Given the description of an element on the screen output the (x, y) to click on. 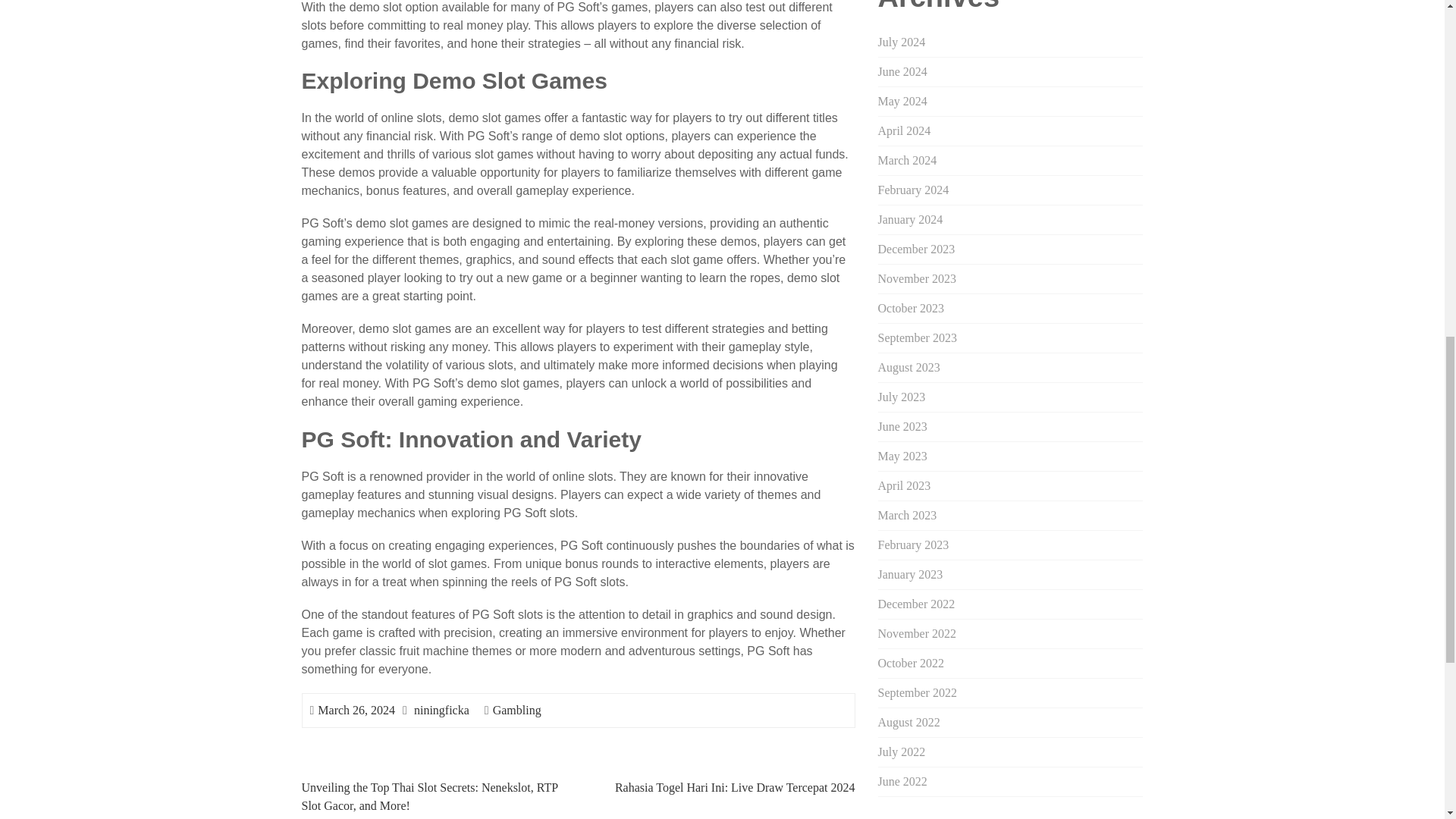
May 2023 (902, 455)
Gambling (517, 709)
July 2024 (901, 42)
March 2024 (907, 160)
November 2022 (916, 633)
April 2024 (904, 130)
March 26, 2024 (355, 709)
June 2023 (902, 426)
December 2022 (916, 603)
October 2022 (910, 662)
September 2023 (916, 337)
Rahasia Togel Hari Ini: Live Draw Tercepat 2024 (735, 787)
April 2023 (904, 485)
August 2023 (908, 367)
February 2024 (913, 189)
